Given the description of an element on the screen output the (x, y) to click on. 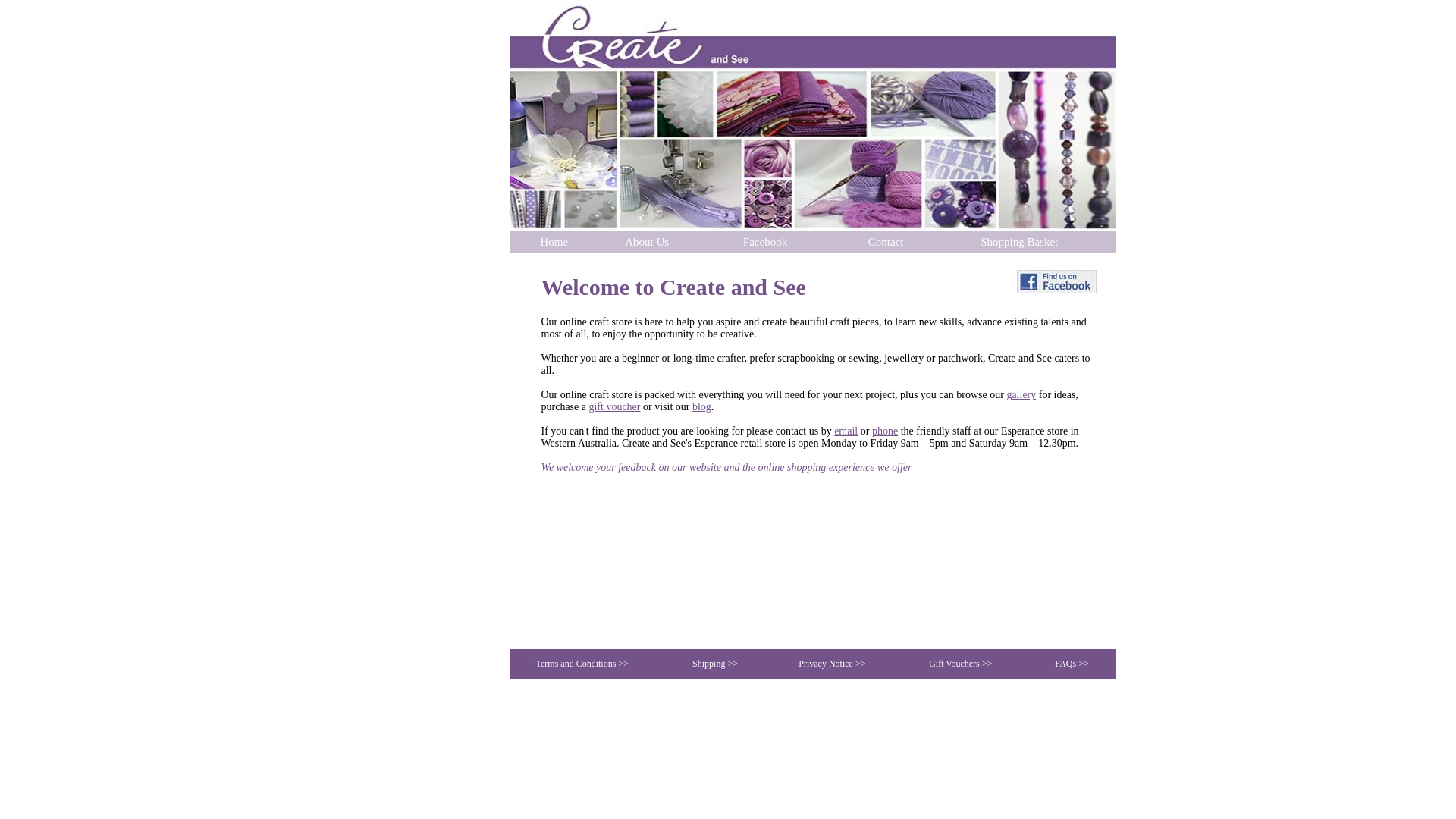
About Us Element type: text (646, 241)
Privacy Notice >> Element type: text (831, 663)
Facebook Element type: text (765, 241)
email Element type: text (845, 430)
Gift Vouchers >> Element type: text (959, 663)
gallery Element type: text (1020, 394)
Terms and Conditions >> Element type: text (581, 663)
gift voucher Element type: text (614, 406)
Shopping Basket Element type: text (1018, 241)
FAQs >> Element type: text (1071, 663)
phone Element type: text (884, 430)
Shipping >> Element type: text (714, 663)
Contact Element type: text (885, 241)
blog Element type: text (701, 406)
Home Element type: text (553, 241)
